Given the description of an element on the screen output the (x, y) to click on. 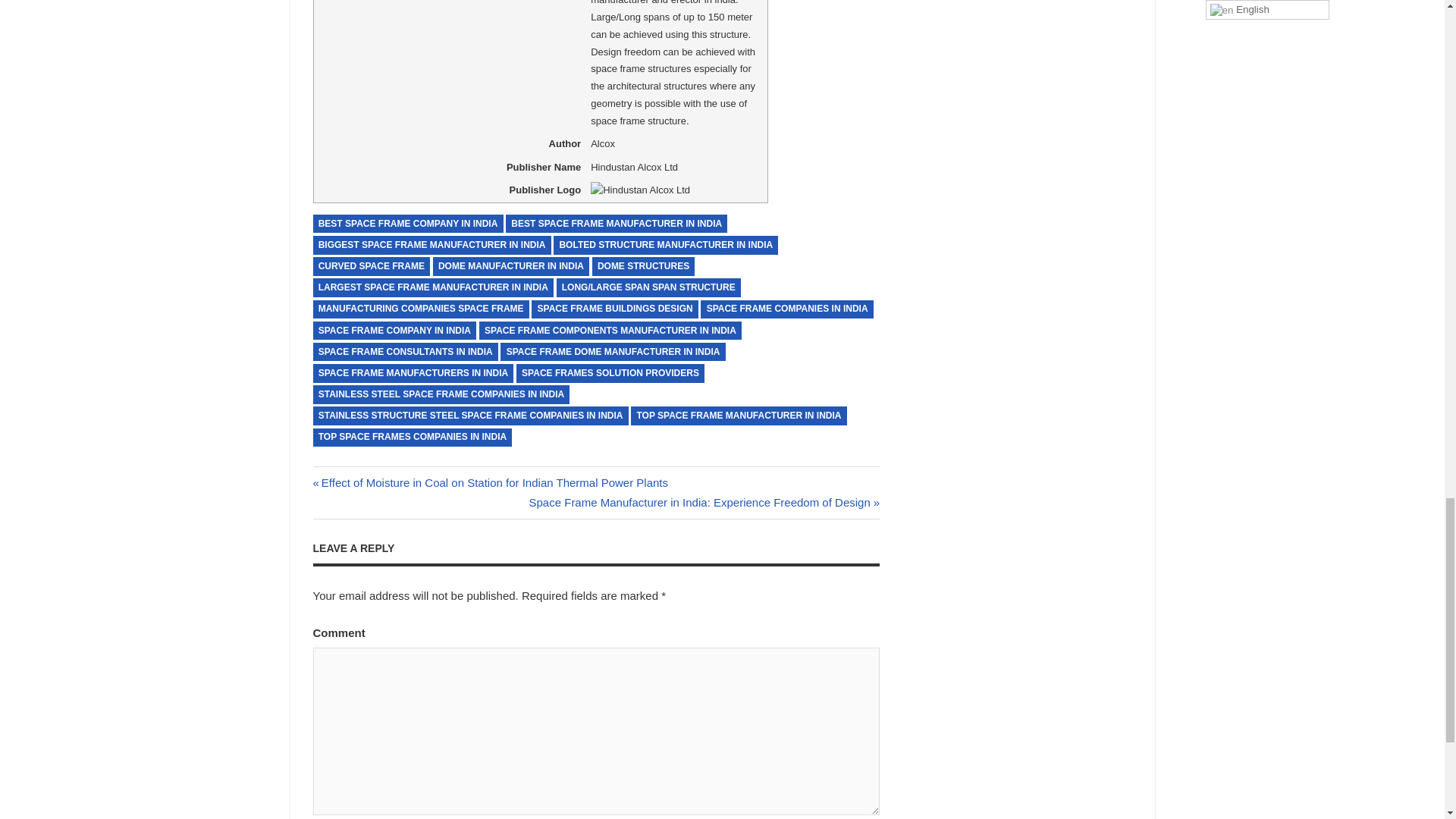
CURVED SPACE FRAME (371, 266)
LARGEST SPACE FRAME MANUFACTURER IN INDIA (433, 287)
SPACE FRAME DOME MANUFACTURER IN INDIA (612, 352)
SPACE FRAME COMPANY IN INDIA (394, 330)
SPACE FRAMES SOLUTION PROVIDERS (610, 373)
SPACE FRAME MANUFACTURERS IN INDIA (413, 373)
SPACE FRAME CONSULTANTS IN INDIA (405, 352)
TOP SPACE FRAMES COMPANIES IN INDIA (412, 437)
SPACE FRAME COMPONENTS MANUFACTURER IN INDIA (610, 330)
